Given the description of an element on the screen output the (x, y) to click on. 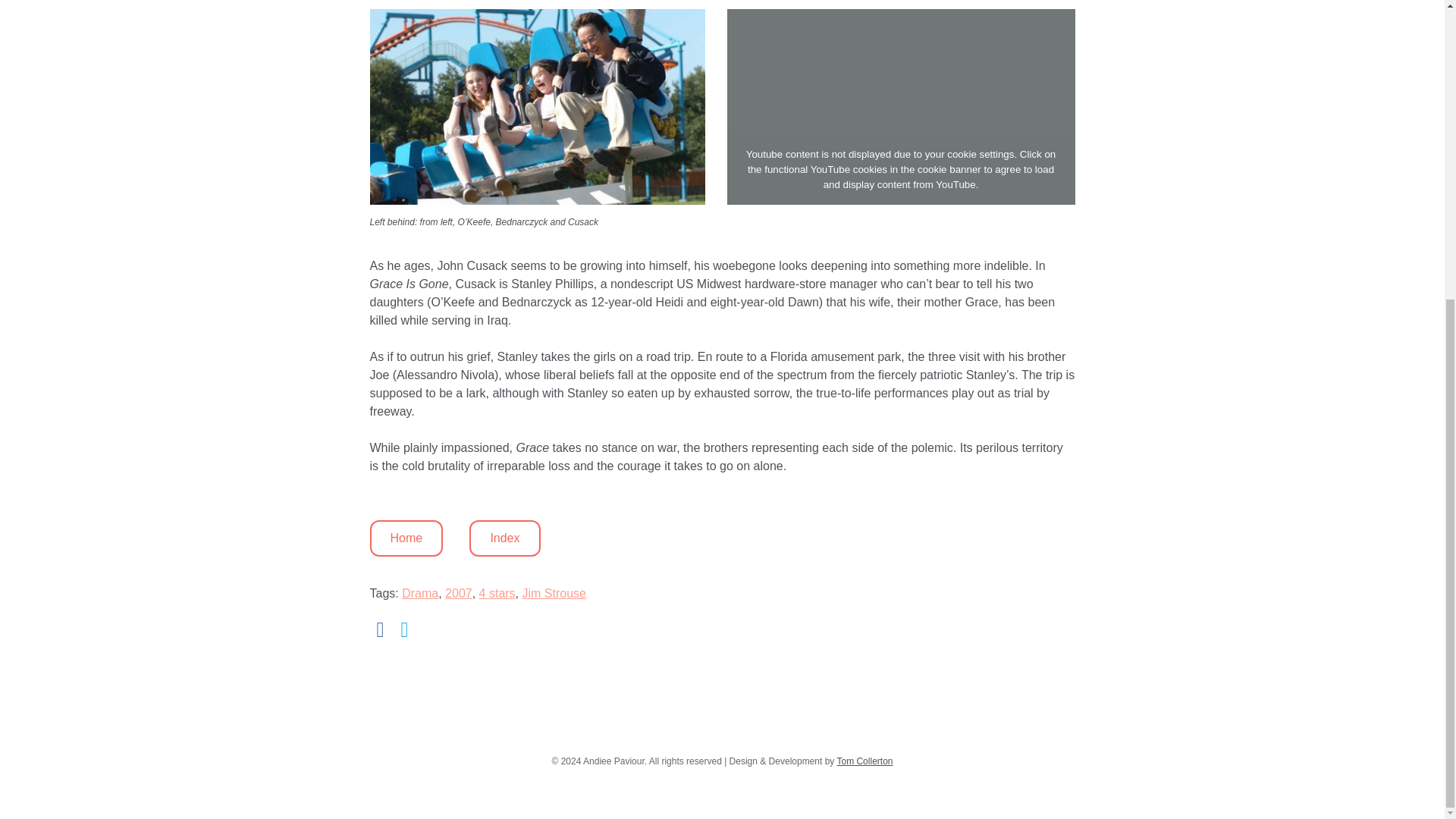
Jim Strouse (553, 593)
Home (406, 538)
Twitter (404, 629)
4 stars (497, 593)
tomcollerton.com (863, 760)
Facebook (380, 629)
2007 (458, 593)
Tom Collerton (863, 760)
Index (504, 538)
Drama (419, 593)
